Given the description of an element on the screen output the (x, y) to click on. 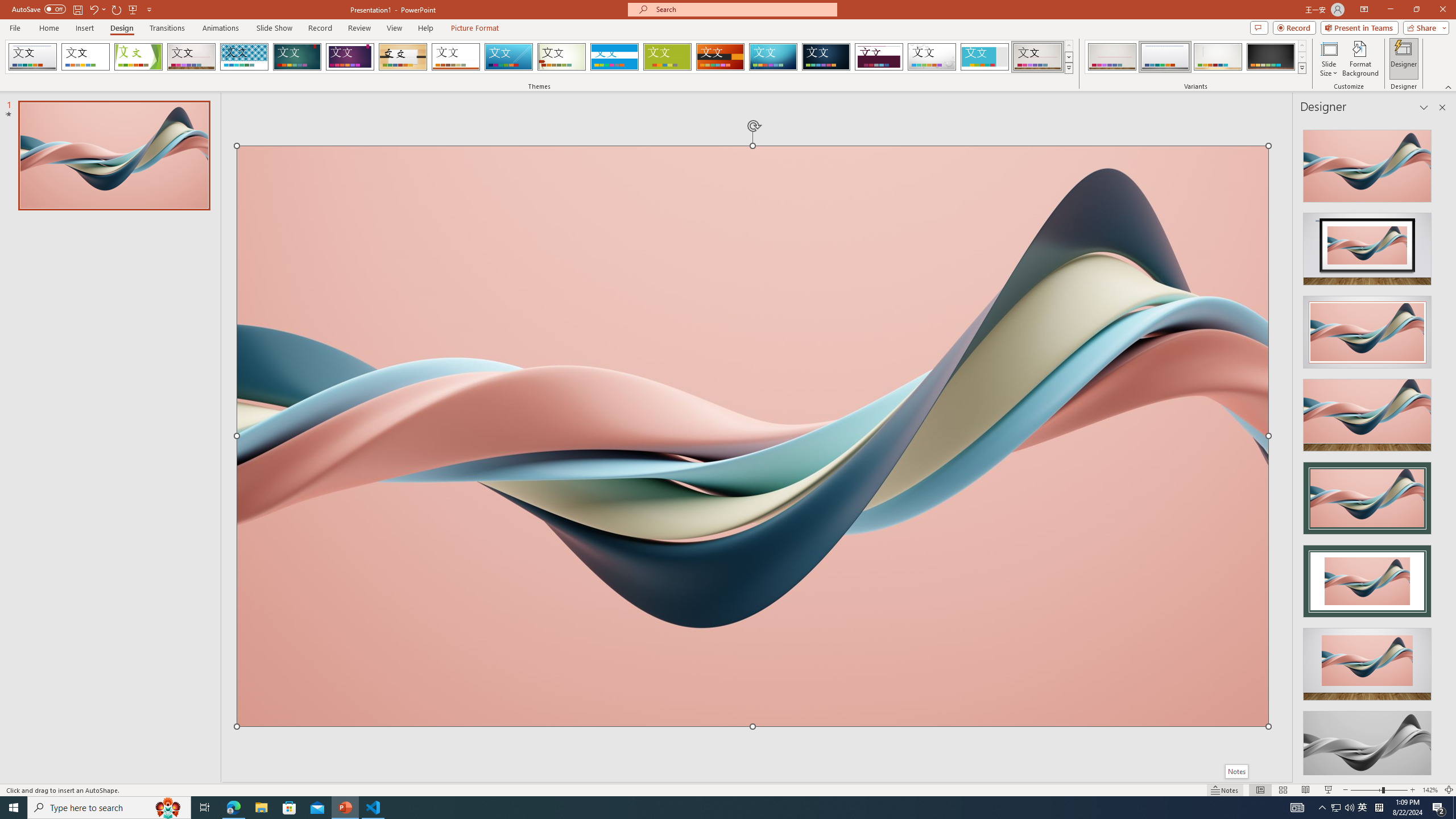
Dividend (879, 56)
Basis (667, 56)
Office Theme (85, 56)
Notes (1235, 771)
AutomationID: SlideThemesGallery (539, 56)
Damask (826, 56)
